Given the description of an element on the screen output the (x, y) to click on. 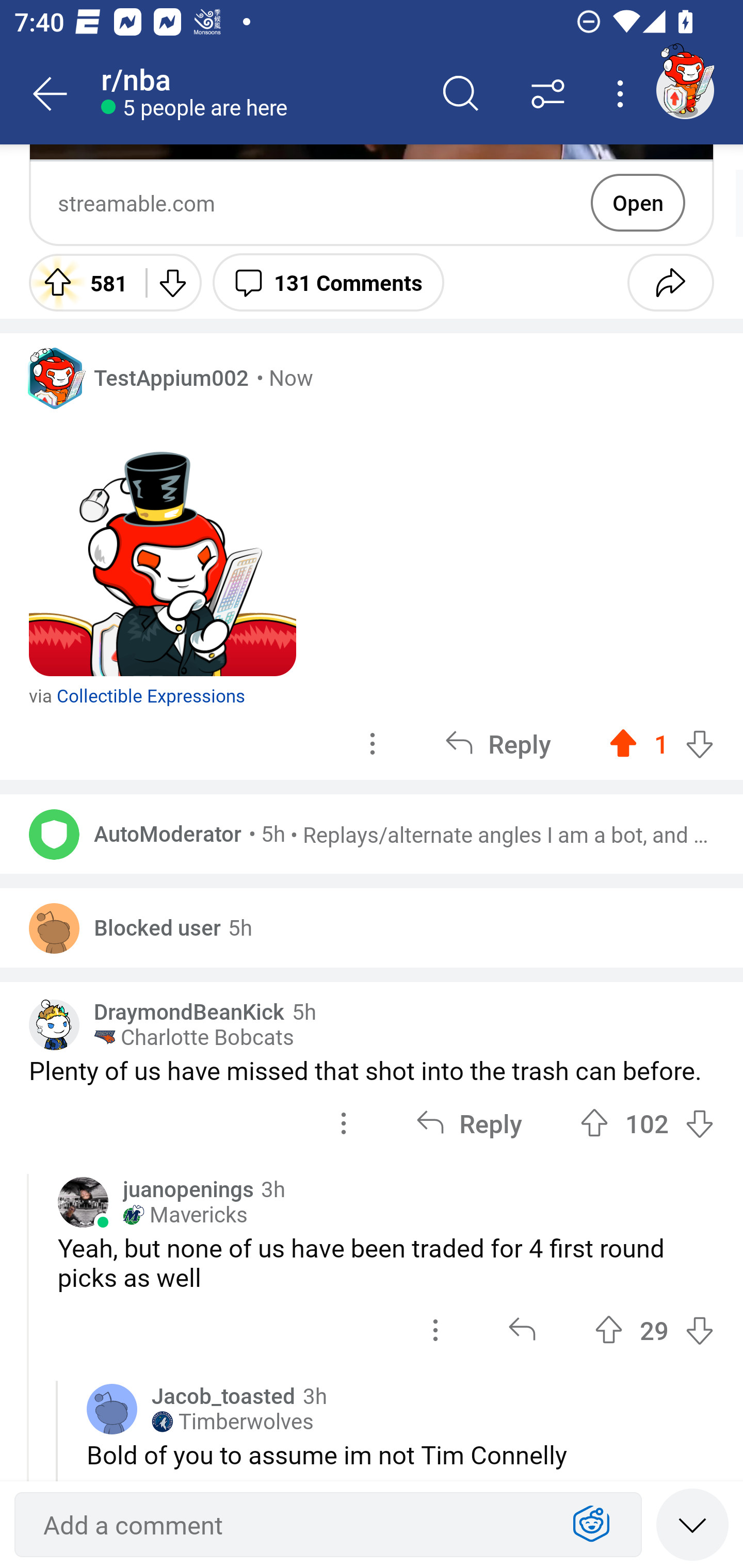
Back (50, 93)
TestAppium002 account (685, 90)
Search comments (460, 93)
Sort comments (547, 93)
More options (623, 93)
r/nba 5 people are here (259, 93)
Open (637, 203)
Upvote 581 (79, 282)
Downvote (171, 282)
131 Comments (328, 282)
Share (670, 282)
bravo expression (162, 542)
via Collectible Expressions (136, 679)
options (372, 743)
Reply (498, 743)
Upvote 1 1 vote Downvote (661, 743)
Avatar (53, 834)
Avatar (53, 928)
Custom avatar (53, 1025)
￼ Charlotte Bobcats (193, 1037)
options (343, 1122)
Reply (469, 1122)
Upvote 102 102 votes Downvote (647, 1122)
Avatar (82, 1202)
￼ Mavericks (185, 1214)
options (435, 1329)
Upvote 29 29 votes Downvote (654, 1329)
Avatar (111, 1409)
￼ Timberwolves (232, 1421)
Bold of you to assume im not Tim Connelly (400, 1453)
Speed read (692, 1524)
Add a comment (291, 1524)
Show Expressions (590, 1524)
